Given the description of an element on the screen output the (x, y) to click on. 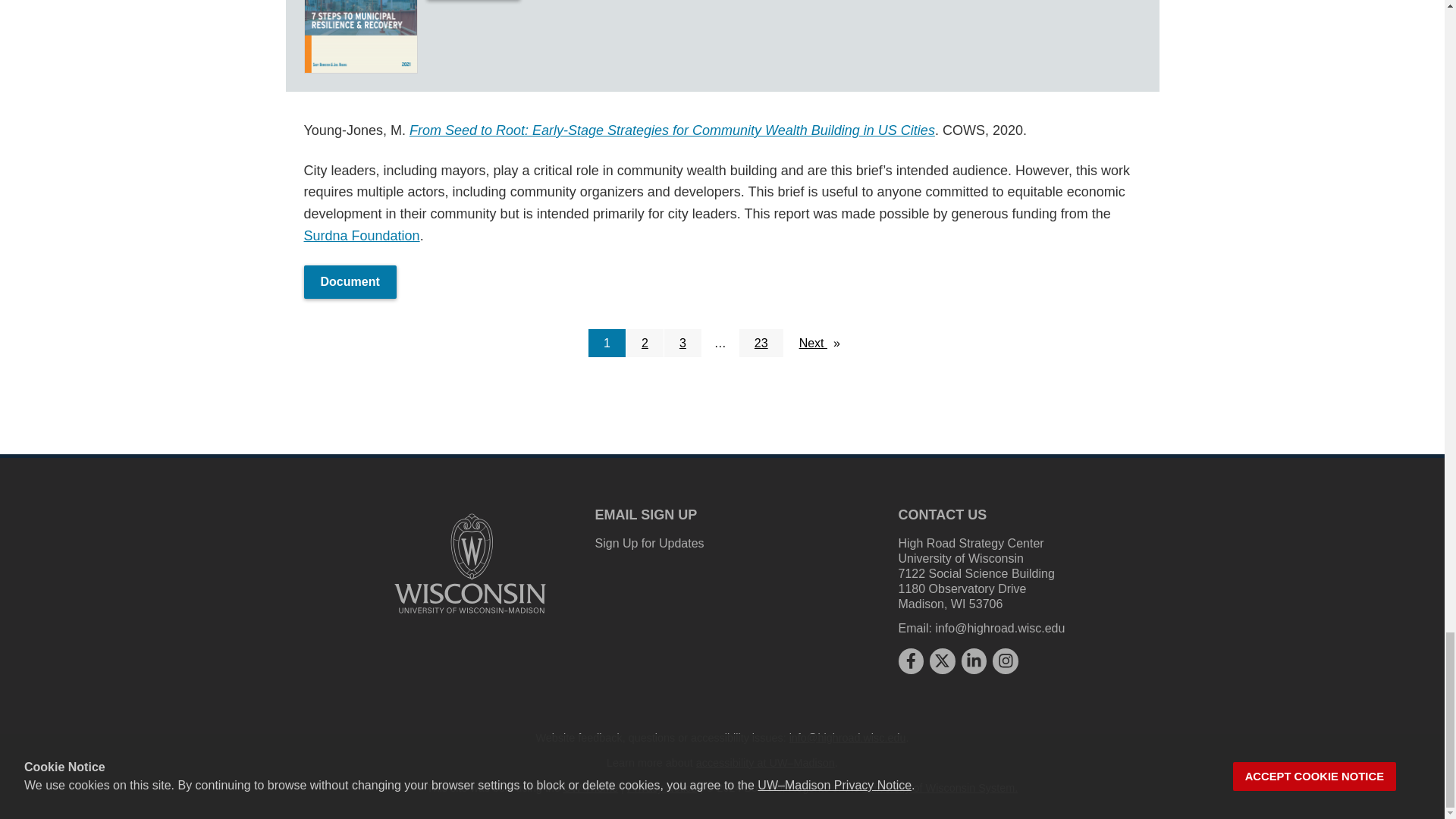
x twitter (941, 660)
facebook (910, 660)
University logo that links to main university website (470, 562)
instagram (1005, 660)
linkedin (973, 660)
